Given the description of an element on the screen output the (x, y) to click on. 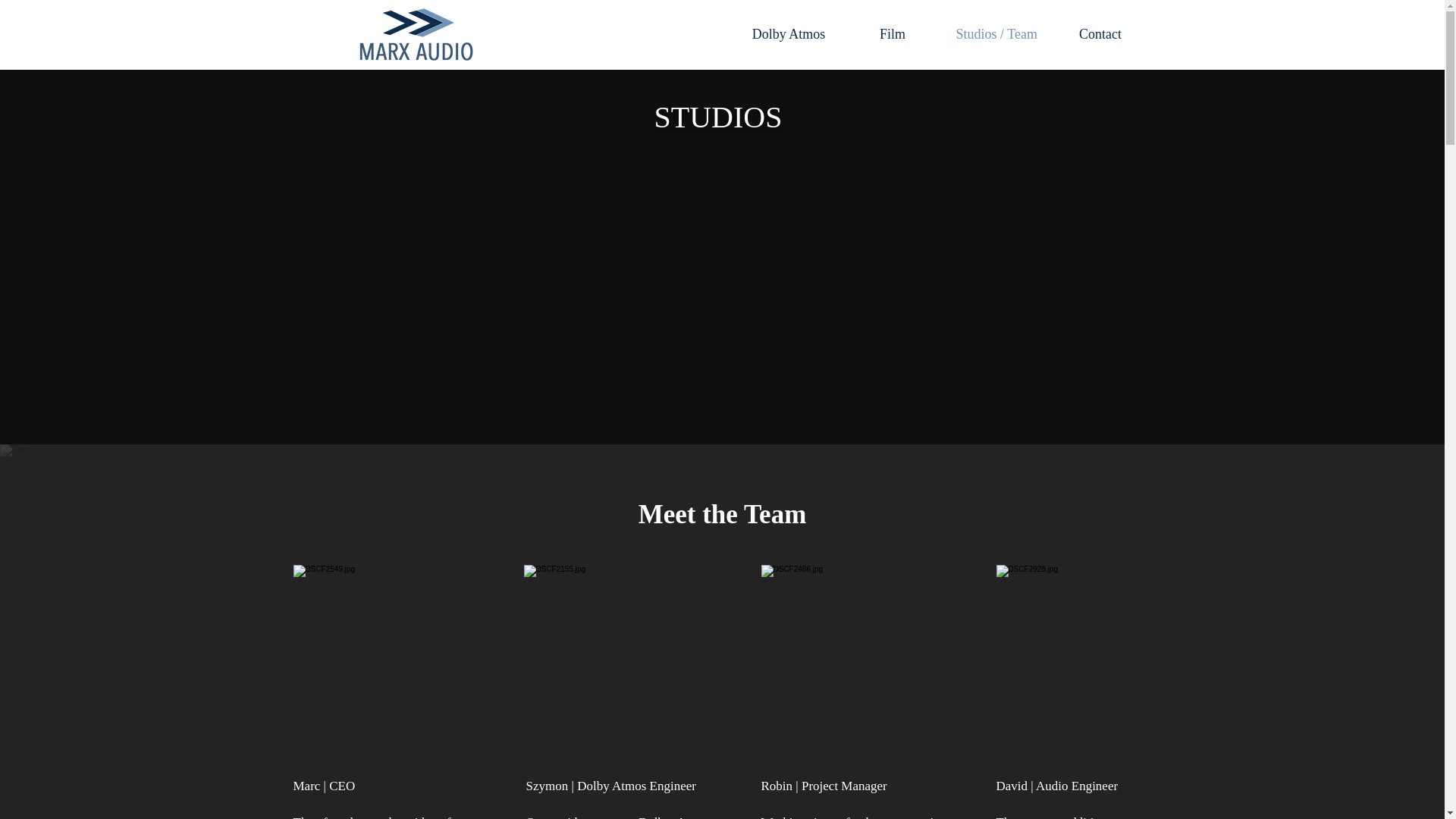
Contact (1099, 34)
Film (891, 34)
Dolby Atmos (788, 34)
